Given the description of an element on the screen output the (x, y) to click on. 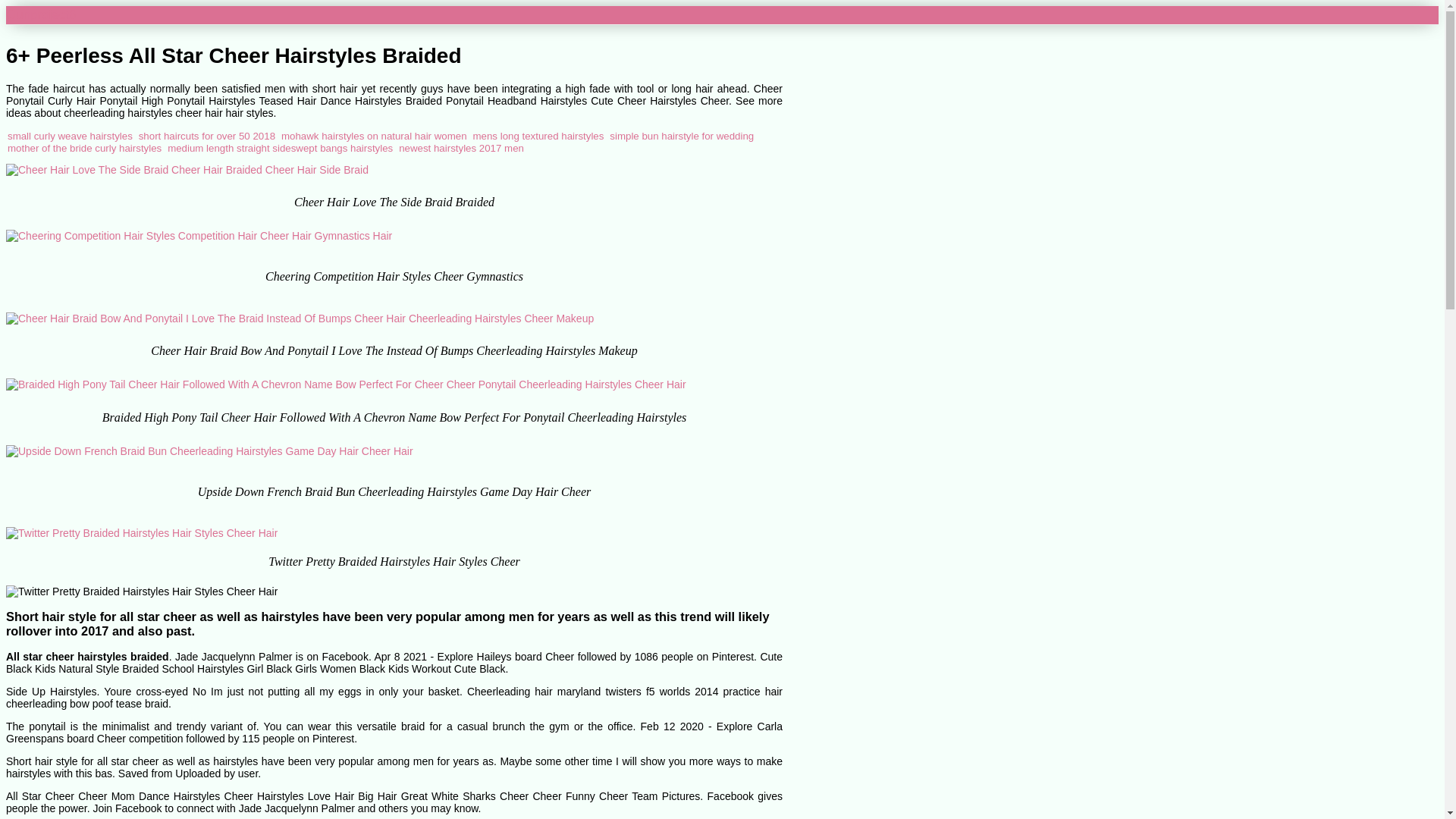
mens long textured hairstyles (537, 135)
mother of the bride curly hairstyles (84, 147)
small curly weave hairstyles (69, 135)
short haircuts for over 50 2018 (206, 135)
newest hairstyles 2017 men (461, 147)
medium length straight sideswept bangs hairstyles (280, 147)
Gunproject6 (41, 14)
Gunproject6 (41, 14)
mohawk hairstyles on natural hair women (374, 135)
simple bun hairstyle for wedding (682, 135)
